Given the description of an element on the screen output the (x, y) to click on. 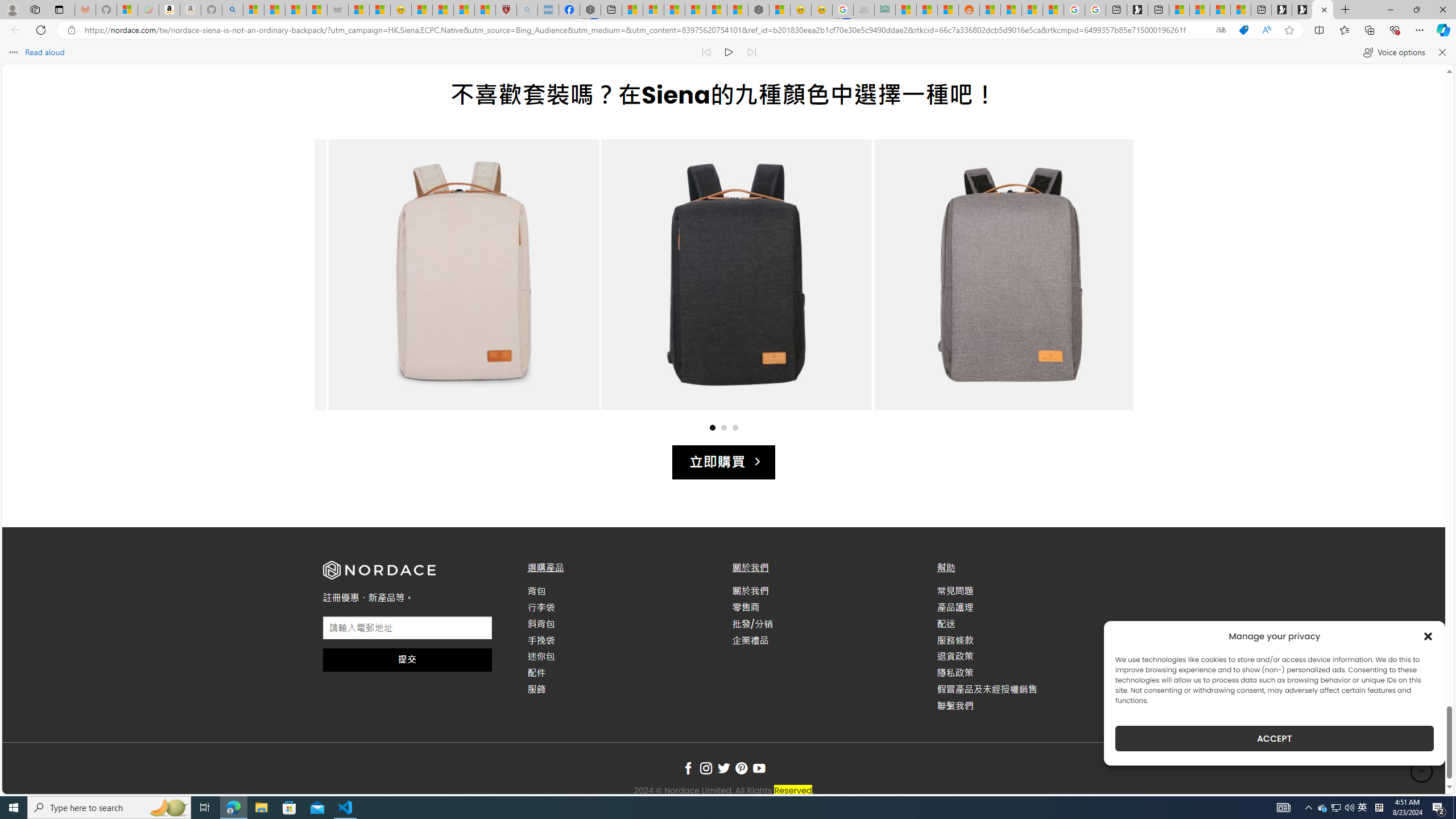
R******* | Trusted Community Engagement and Contributions (990, 9)
AutomationID: input_4_1 (406, 627)
Continue to read aloud (Ctrl+Shift+U) (729, 52)
Play Free Online Games | Games from Microsoft Start (1302, 9)
Follow on Facebook (687, 768)
